Given the description of an element on the screen output the (x, y) to click on. 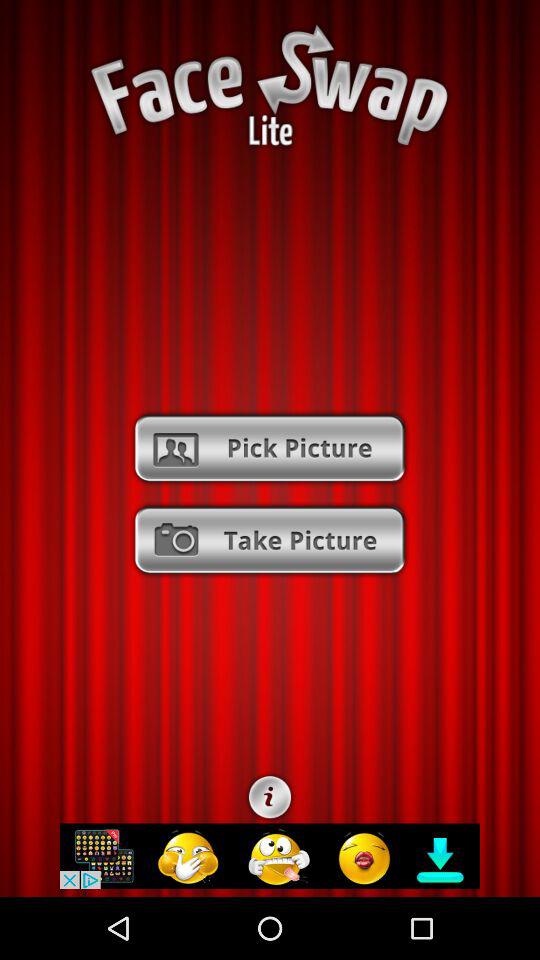
select the option (269, 448)
